Given the description of an element on the screen output the (x, y) to click on. 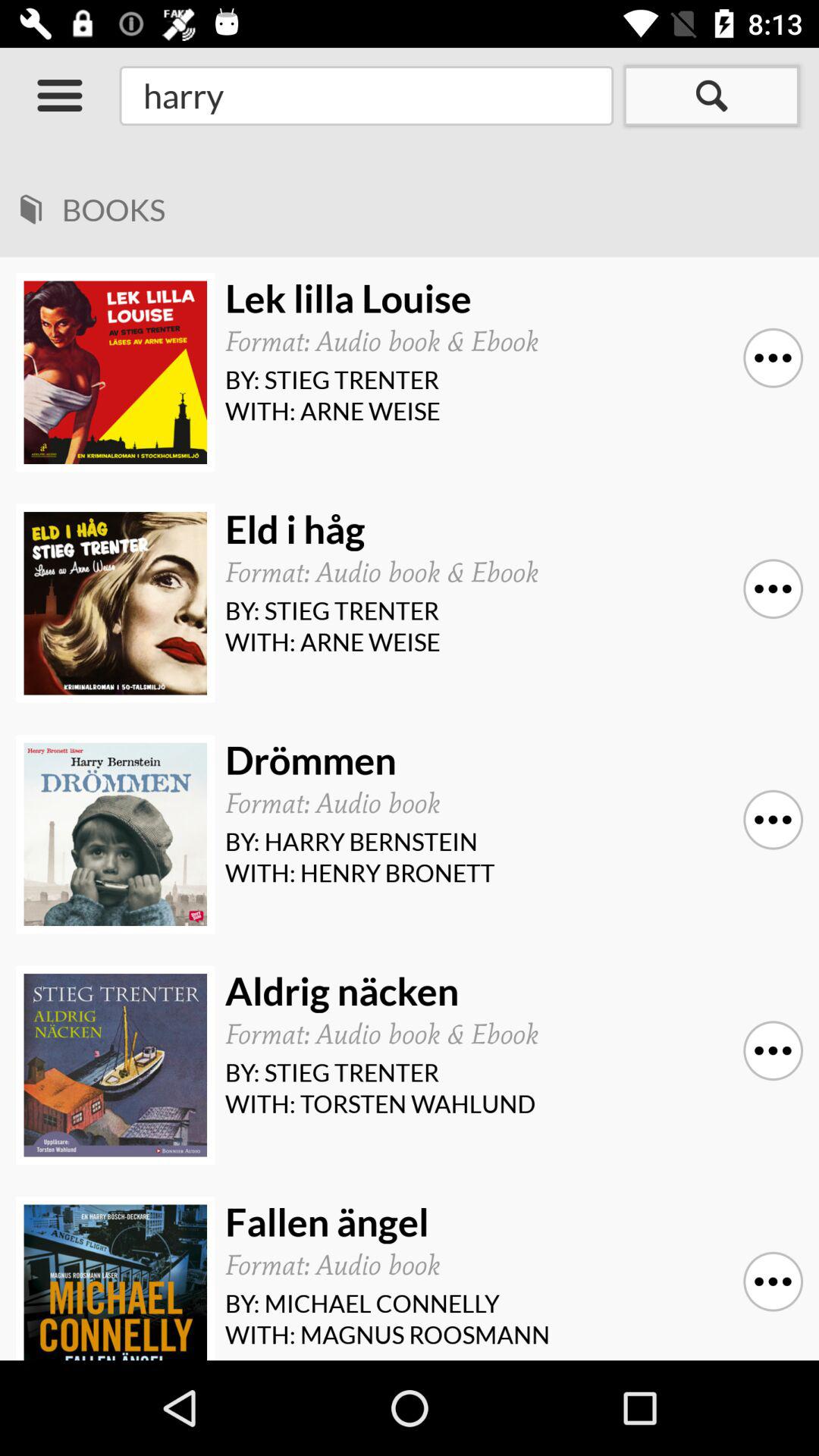
select the icon above with: torsten wahlund icon (773, 1050)
